Given the description of an element on the screen output the (x, y) to click on. 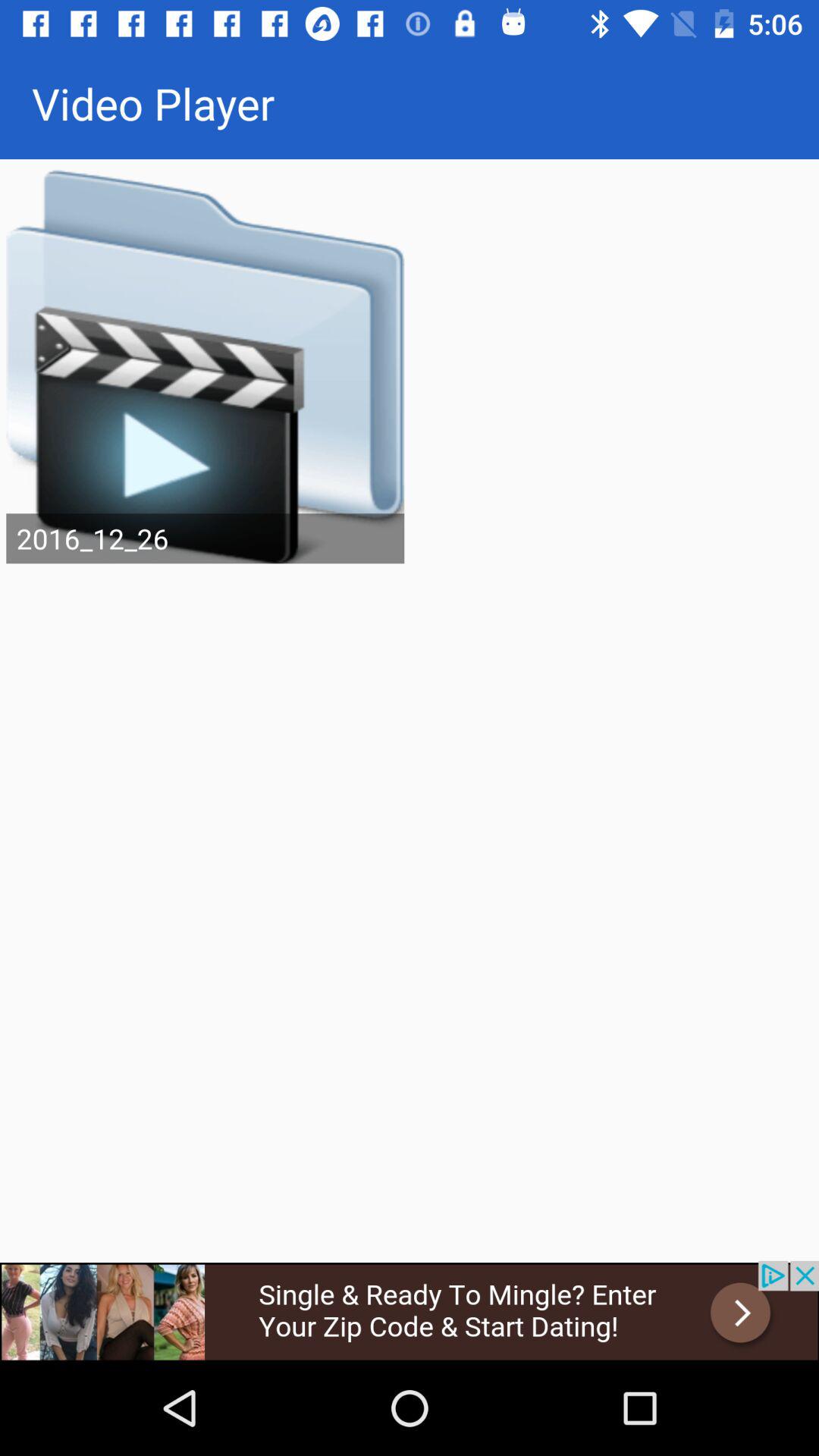
go to advertisement (409, 1310)
